Given the description of an element on the screen output the (x, y) to click on. 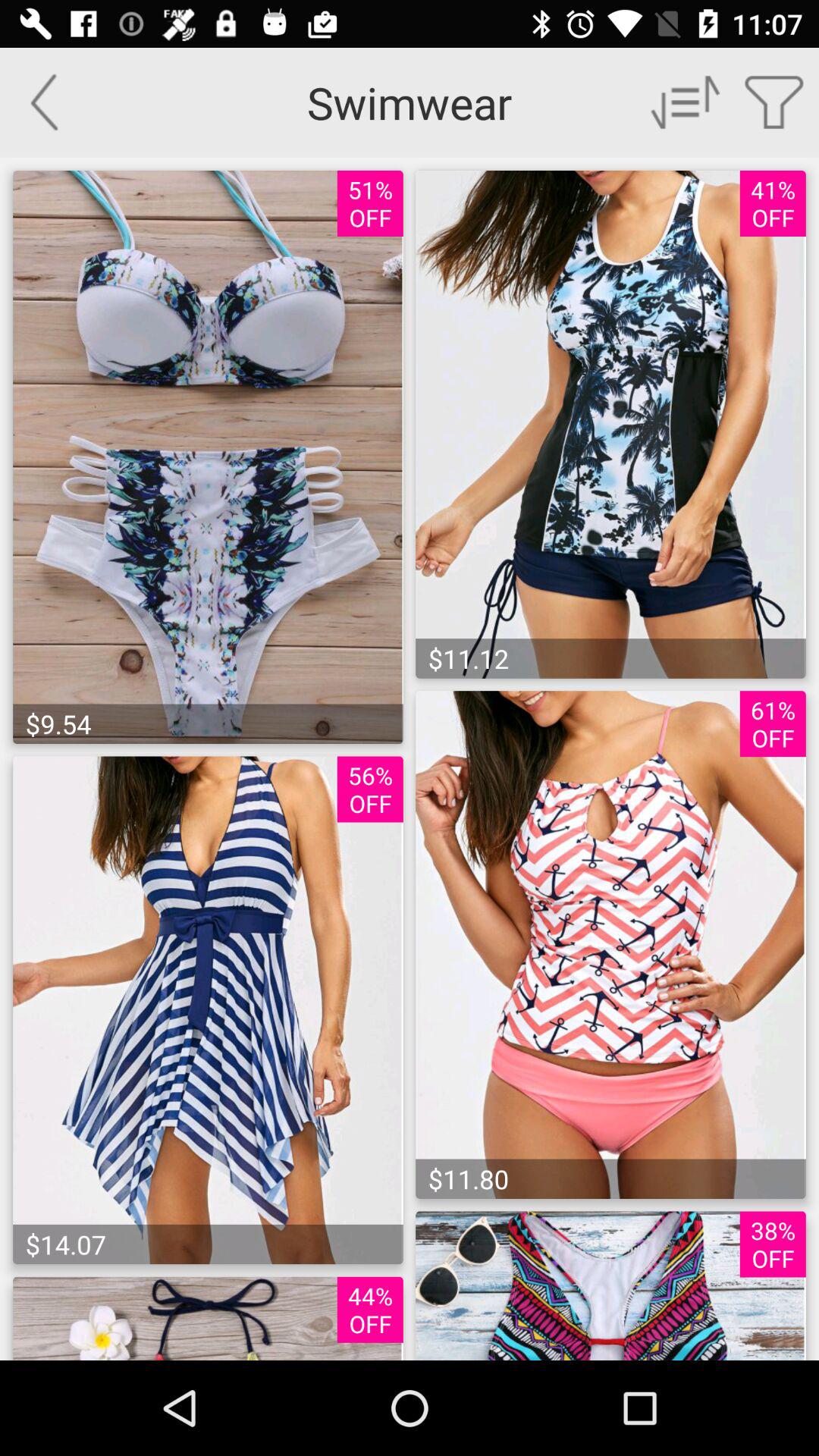
filter results (774, 102)
